Given the description of an element on the screen output the (x, y) to click on. 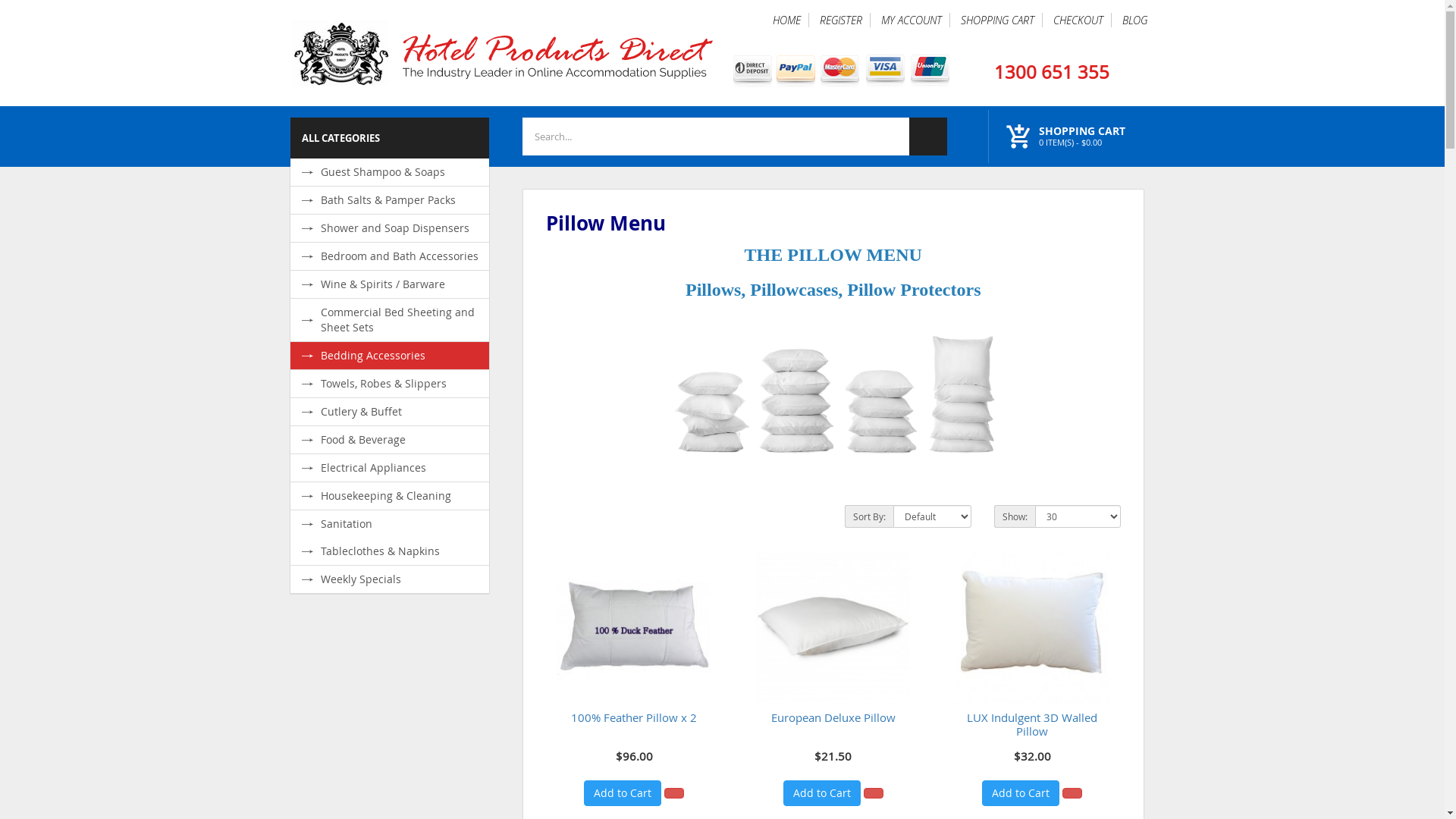
100% Feather Pillow x 2  Element type: hover (633, 626)
European Deluxe Pillow Element type: text (833, 716)
Sanitation Element type: text (389, 523)
LUX Indulgent 3D Walled Pillow Element type: text (1031, 723)
Weekly Specials Element type: text (389, 579)
SHOPPING CART
0 ITEM(S) - $0.00 Element type: text (1081, 138)
100% Feather Pillow x 2 Element type: text (633, 716)
Wine & Spirits / Barware Element type: text (389, 284)
CHECKOUT Element type: text (1077, 19)
REGISTER Element type: text (840, 19)
BLOG Element type: text (1134, 19)
Shower and Soap Dispensers Element type: text (389, 227)
LUX Indulgent 3D Walled Pillow Element type: hover (1031, 626)
Guest Shampoo & Soaps Element type: text (389, 171)
Tableclothes & Napkins Element type: text (389, 550)
Housekeeping & Cleaning Element type: text (389, 495)
Bedroom and Bath Accessories Element type: text (389, 255)
Commercial Bed Sheeting and Sheet Sets Element type: text (389, 319)
Add to Cart Element type: text (1020, 793)
European Deluxe Pillow Element type: hover (832, 626)
Food & Beverage Element type: text (389, 439)
Towels, Robes & Slippers Element type: text (389, 383)
SHOPPING CART Element type: text (996, 19)
Add to Cart Element type: text (622, 793)
Cutlery & Buffet Element type: text (389, 411)
HOME Element type: text (786, 19)
Add to Cart Element type: text (821, 793)
HPD Element type: hover (501, 53)
Electrical Appliances Element type: text (389, 467)
Bath Salts & Pamper Packs Element type: text (389, 199)
Bedding Accessories Element type: text (389, 355)
MY ACCOUNT Element type: text (911, 19)
